Given the description of an element on the screen output the (x, y) to click on. 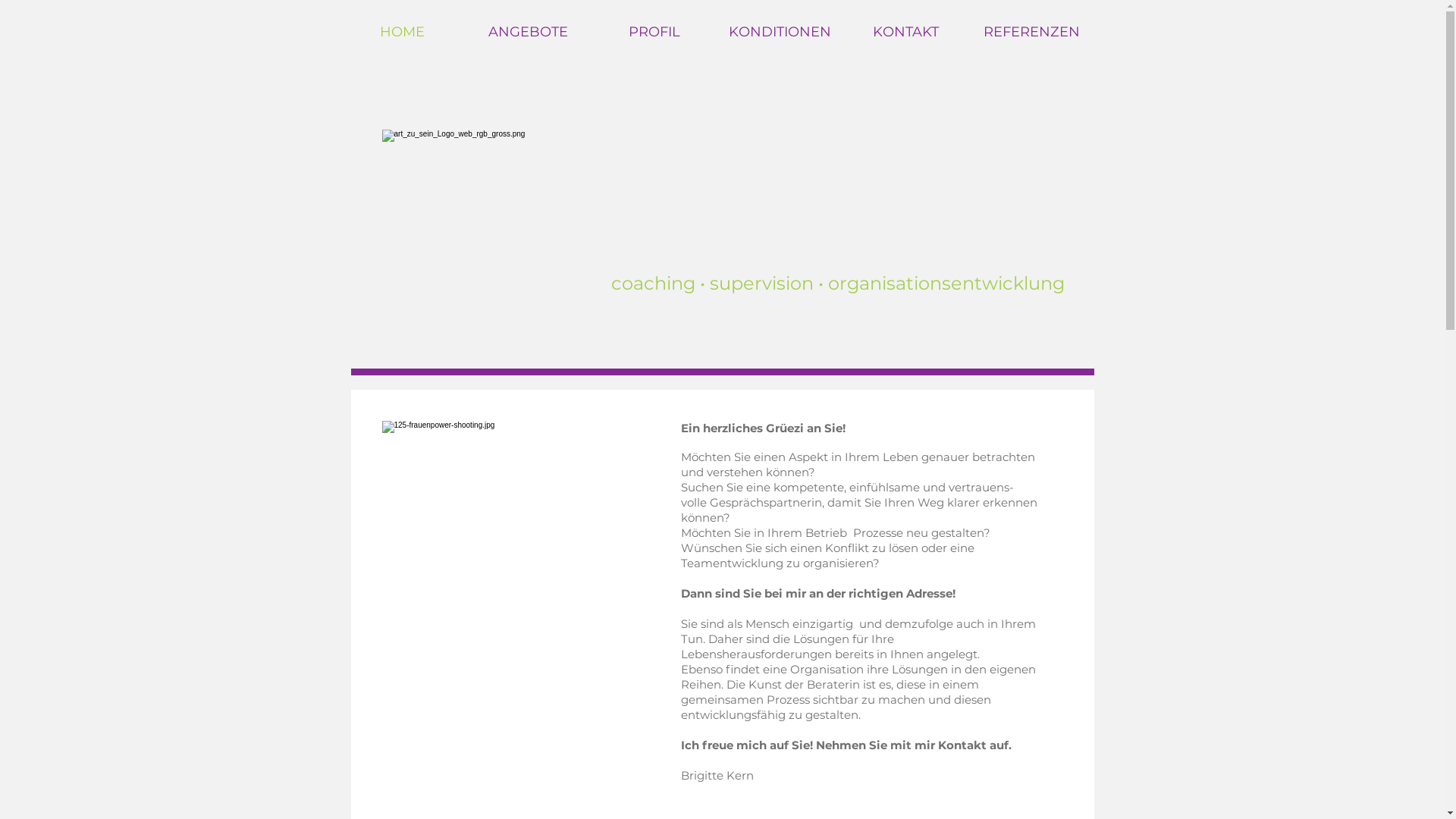
ANGEBOTE Element type: text (528, 31)
KONTAKT Element type: text (906, 31)
PROFIL Element type: text (654, 31)
REFERENZEN Element type: text (1031, 31)
KONDITIONEN Element type: text (780, 31)
HOME Element type: text (402, 31)
